Given the description of an element on the screen output the (x, y) to click on. 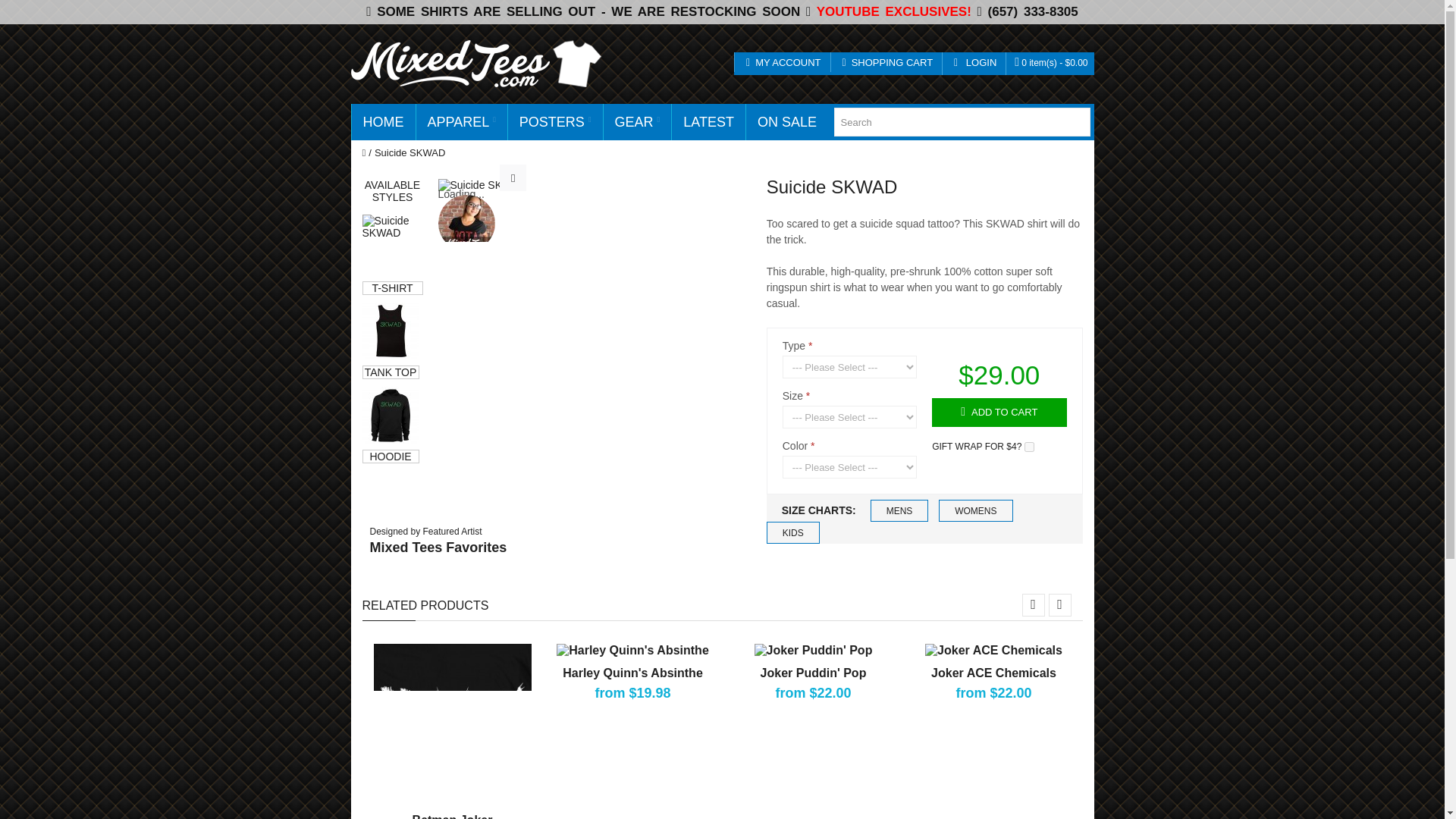
HOME (383, 122)
Suicide SKWAD (482, 184)
Login (907, 230)
Mixed Tees (476, 63)
MY ACCOUNT (782, 62)
YOUTUBE EXCLUSIVES! (893, 11)
Suicide SKWAD (392, 244)
Suicide SKWAD (512, 177)
APPAREL (460, 122)
Suicide SKWAD (390, 414)
12824 (1029, 447)
Suicide SKWAD (390, 330)
SHOPPING CART (886, 62)
Mixed Tees Favorites (466, 222)
LOGIN (974, 61)
